Given the description of an element on the screen output the (x, y) to click on. 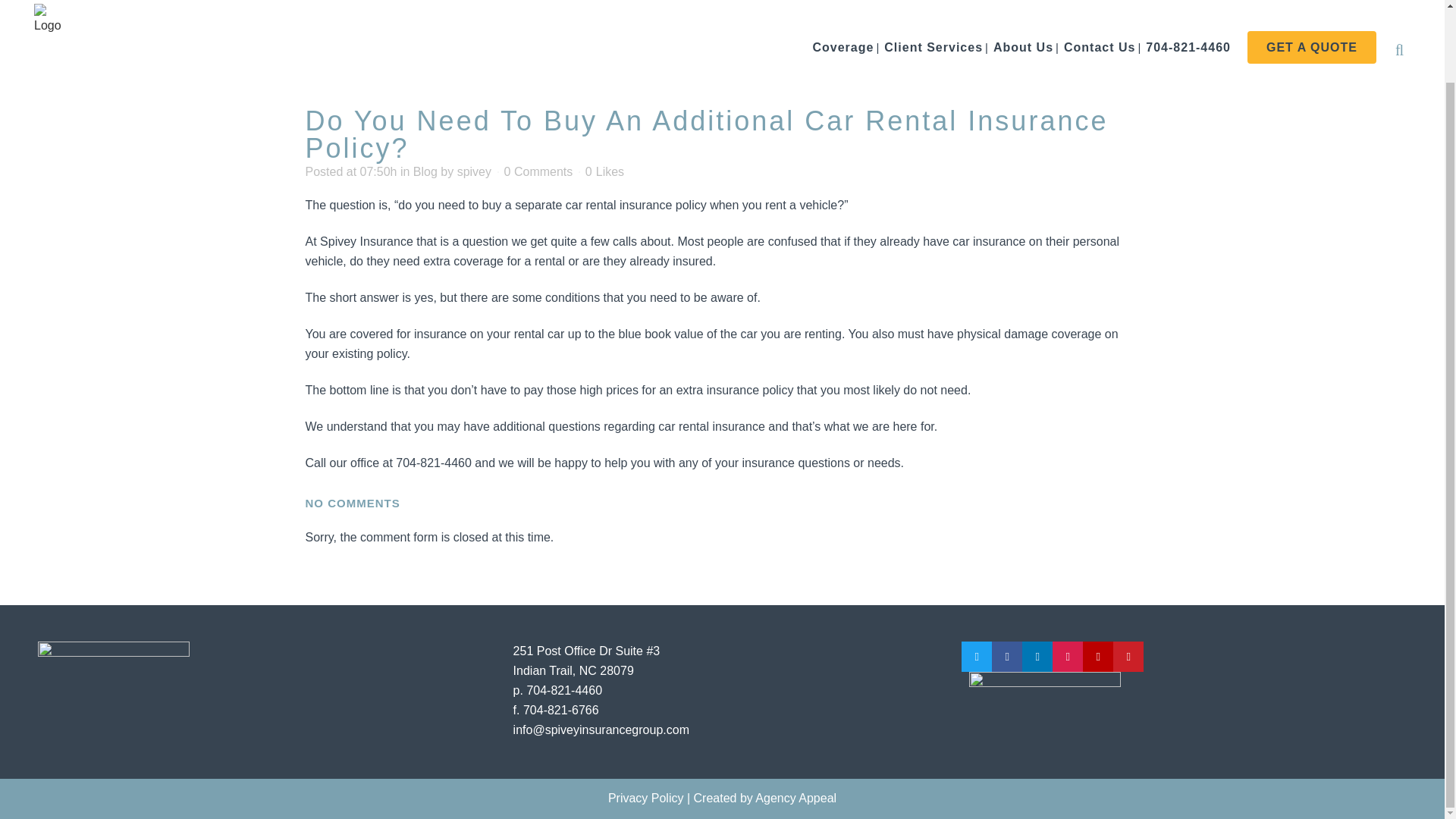
Client Services (933, 7)
Coverage (842, 7)
About Us (1023, 7)
Like this (604, 172)
